Given the description of an element on the screen output the (x, y) to click on. 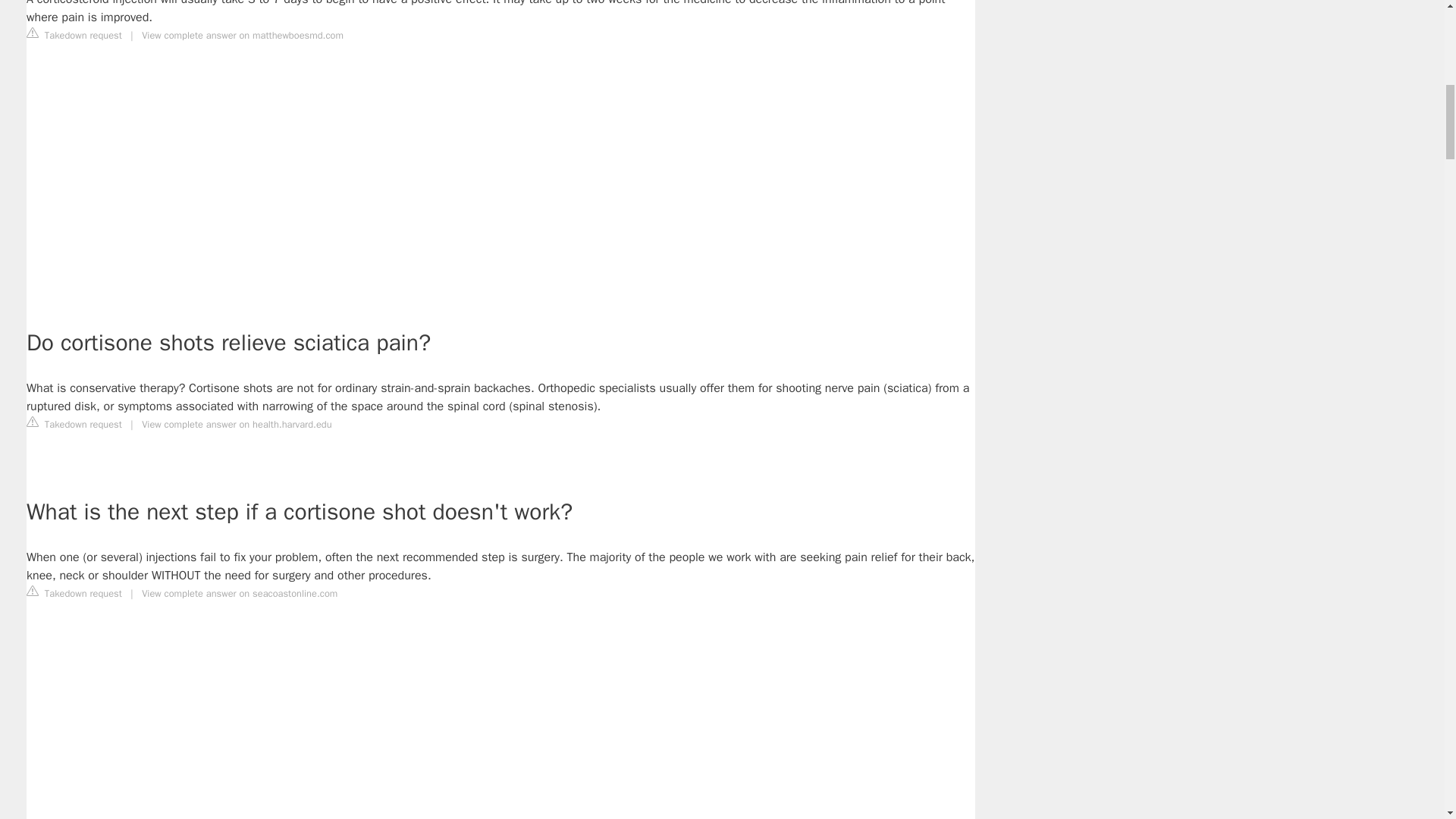
View complete answer on health.harvard.edu (236, 424)
Takedown request (74, 592)
View complete answer on seacoastonline.com (239, 593)
Takedown request (74, 423)
View complete answer on matthewboesmd.com (242, 35)
Takedown request (74, 34)
